Given the description of an element on the screen output the (x, y) to click on. 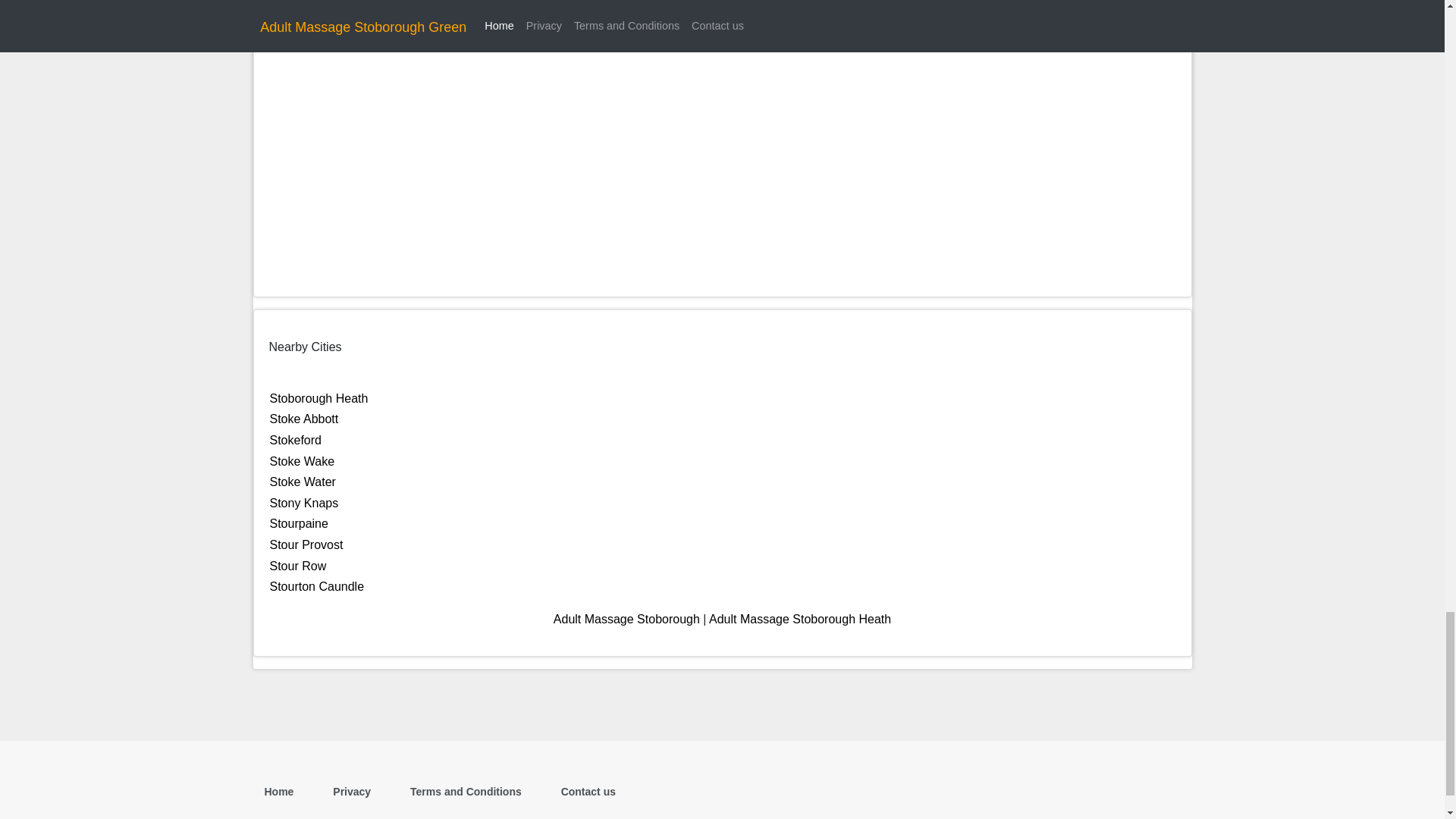
Stoke Wake (301, 461)
Stoke Water (302, 481)
Stony Knaps (304, 502)
Adult Massage Stoborough Heath (800, 618)
Stoke Abbott (304, 418)
Stour Provost (306, 544)
Stokeford (295, 440)
Stourpaine (299, 522)
Adult Massage Stoborough (626, 618)
Stourton Caundle (317, 585)
Stour Row (297, 565)
Stoborough Heath (318, 398)
